Given the description of an element on the screen output the (x, y) to click on. 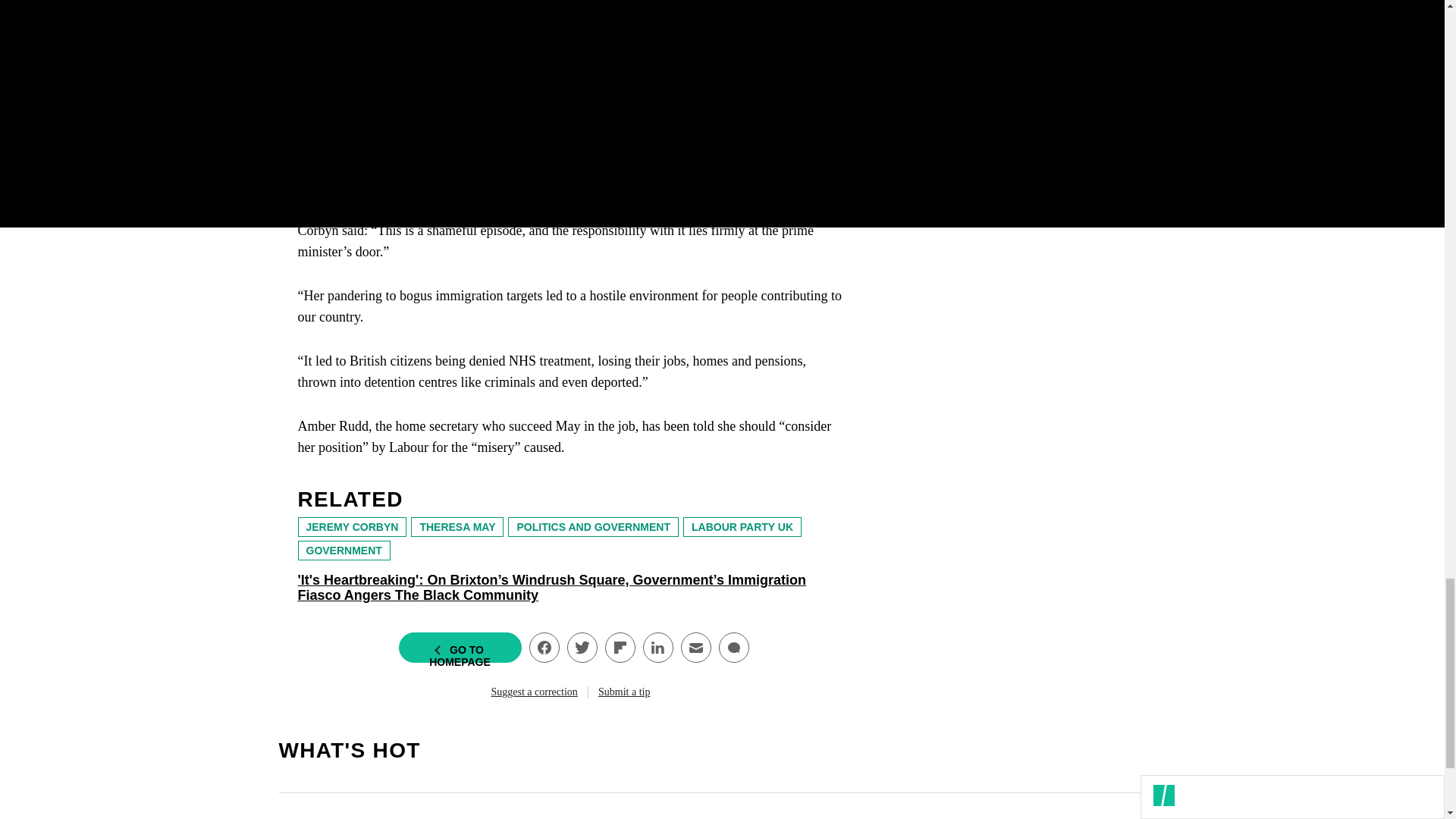
SIGN UP (1098, 86)
